Given the description of an element on the screen output the (x, y) to click on. 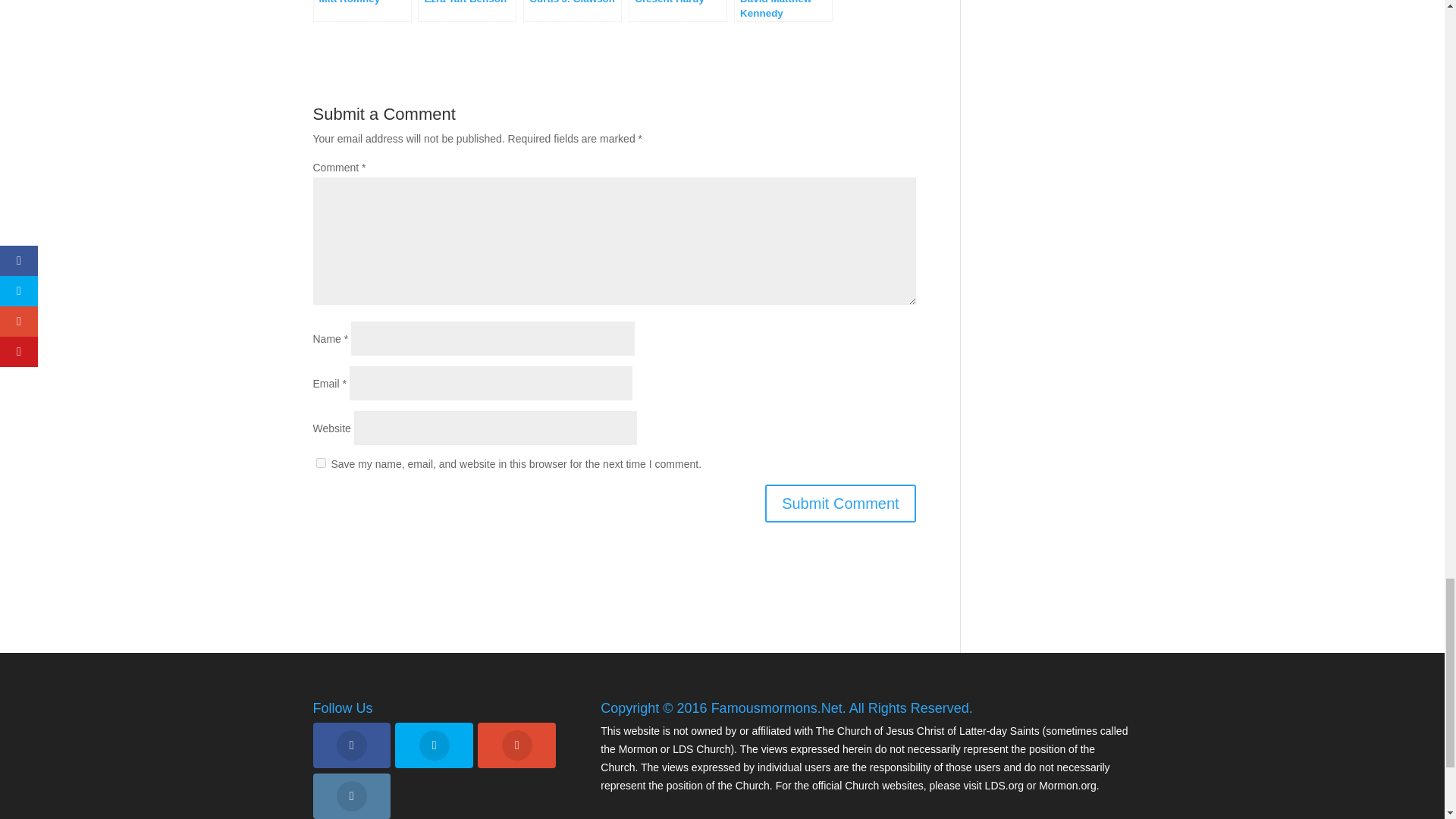
David Matthew Kennedy (782, 11)
Mitt Romney (361, 11)
yes (319, 462)
Submit Comment (840, 503)
Mitt Romney (361, 11)
Curtis J. Clawson (571, 11)
Submit Comment (840, 503)
Ezra Taft Benson (466, 11)
Ezra Taft Benson (466, 11)
Cresent Hardy (677, 11)
